Given the description of an element on the screen output the (x, y) to click on. 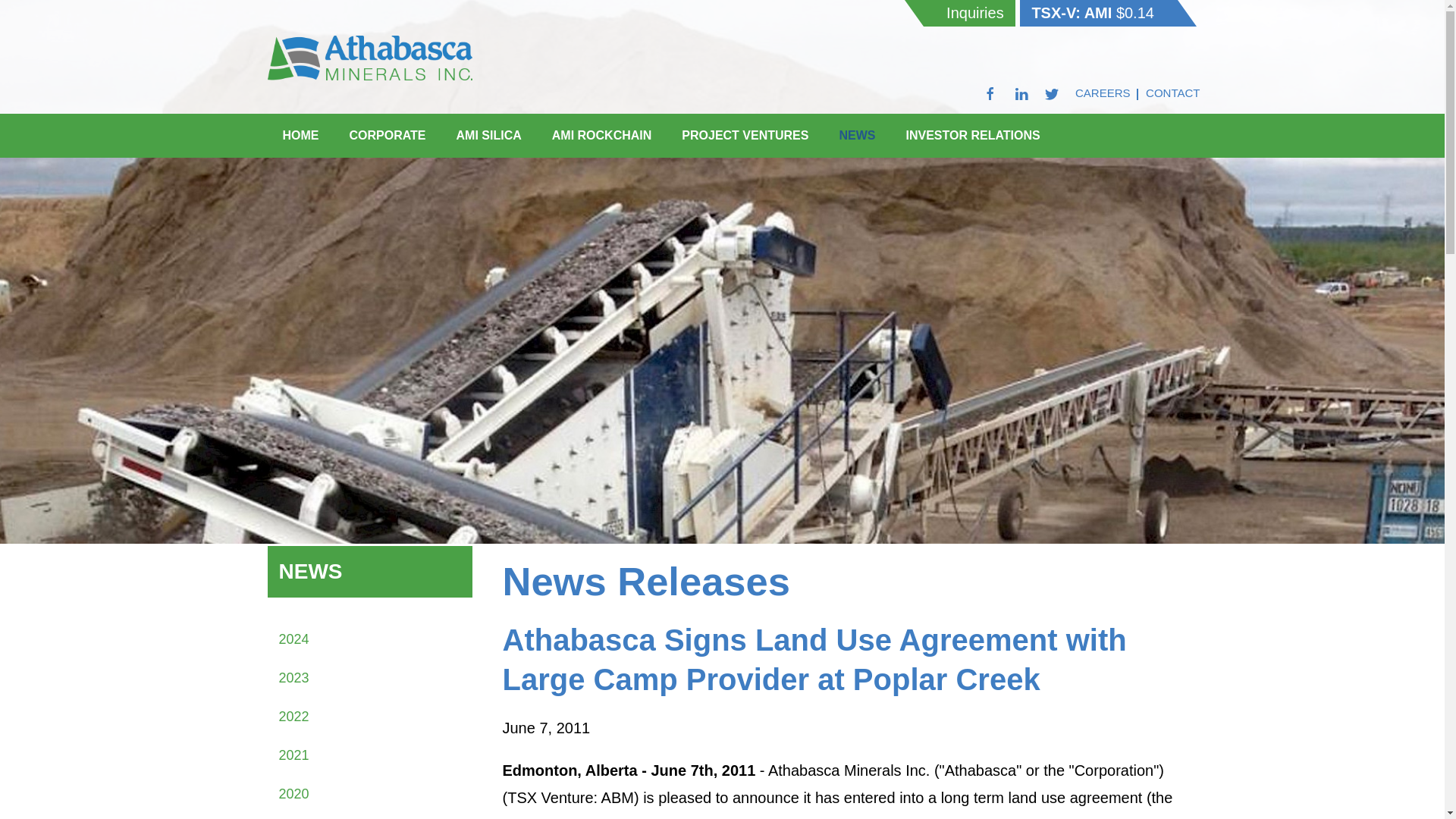
CORPORATE (386, 135)
NEWS (856, 135)
Inquiries (969, 13)
CAREERS (1104, 92)
PROJECT VENTURES (744, 135)
AMI ROCKCHAIN (601, 135)
CONTACT (1174, 92)
Back to Home Page (368, 56)
INVESTOR RELATIONS (972, 135)
HOME (300, 135)
